Given the description of an element on the screen output the (x, y) to click on. 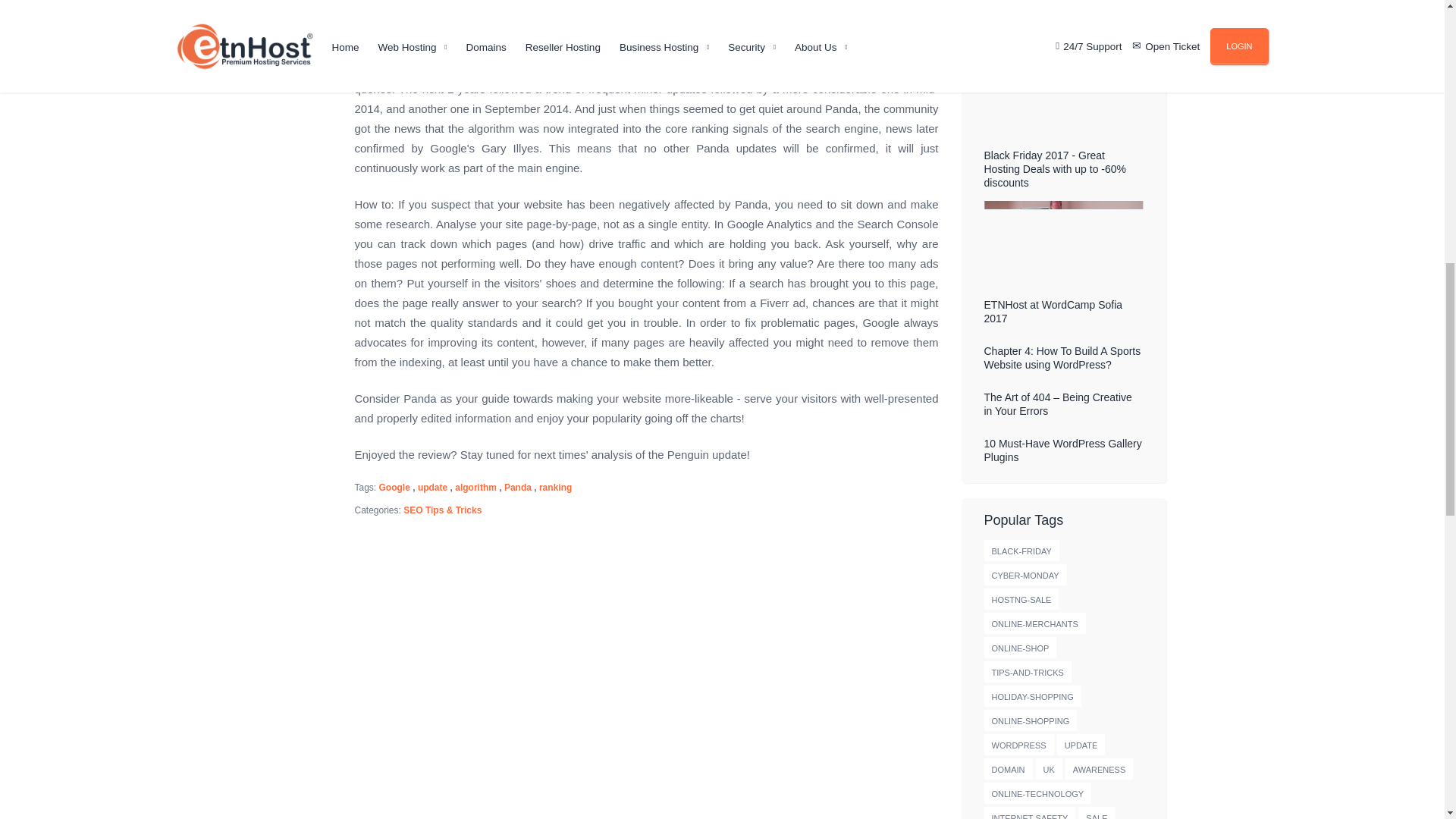
Google (394, 487)
update (431, 487)
algorithm (475, 487)
ranking (555, 487)
Panda (517, 487)
